Given the description of an element on the screen output the (x, y) to click on. 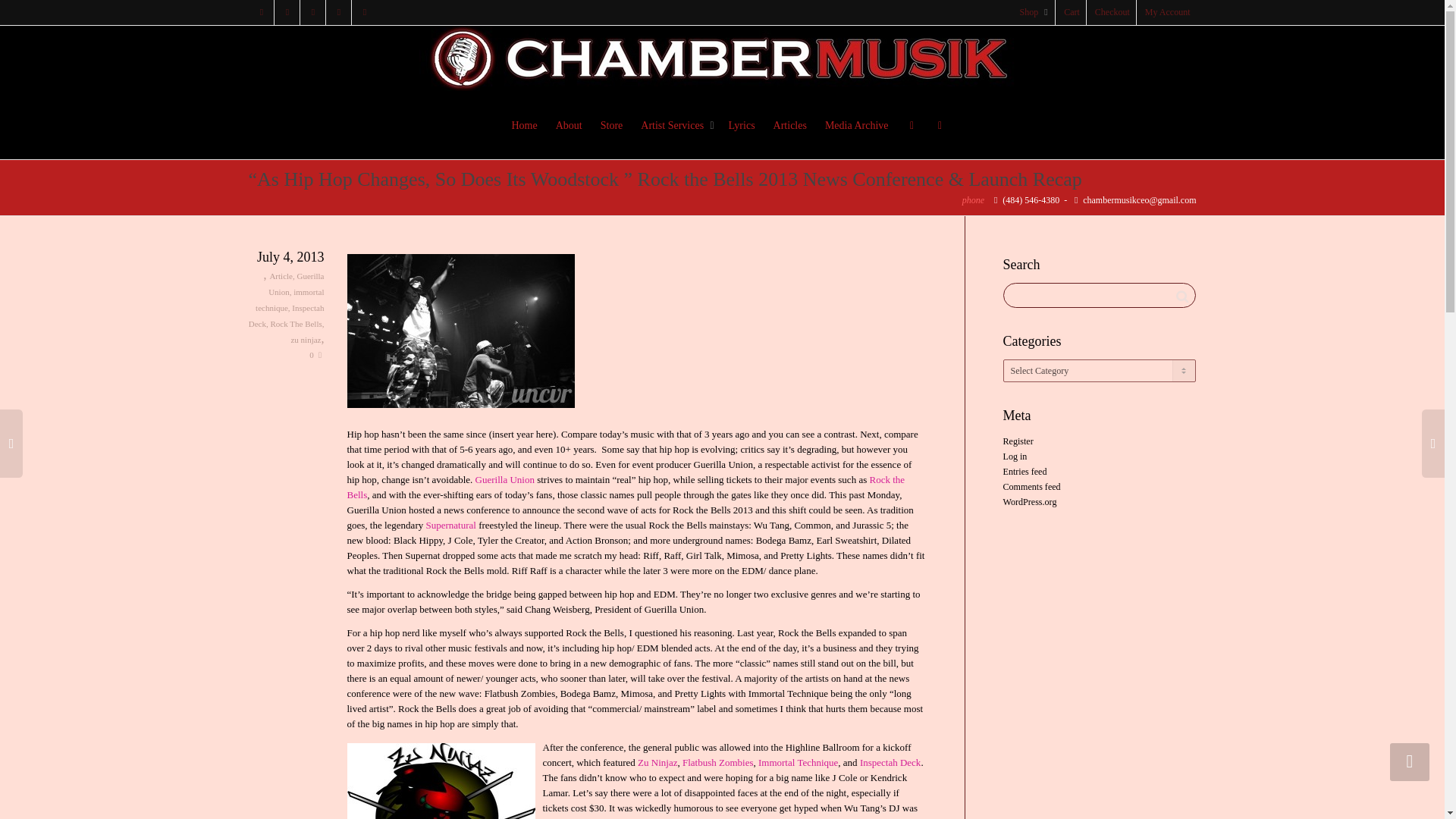
My Account (1167, 12)
Artist Services (675, 125)
Cart (1072, 12)
Checkout (1113, 12)
Search (1181, 295)
Checkout (1113, 12)
Chambermusik (722, 57)
Search (1181, 295)
July 4, 2013 (286, 257)
Media Archive (856, 125)
